Given the description of an element on the screen output the (x, y) to click on. 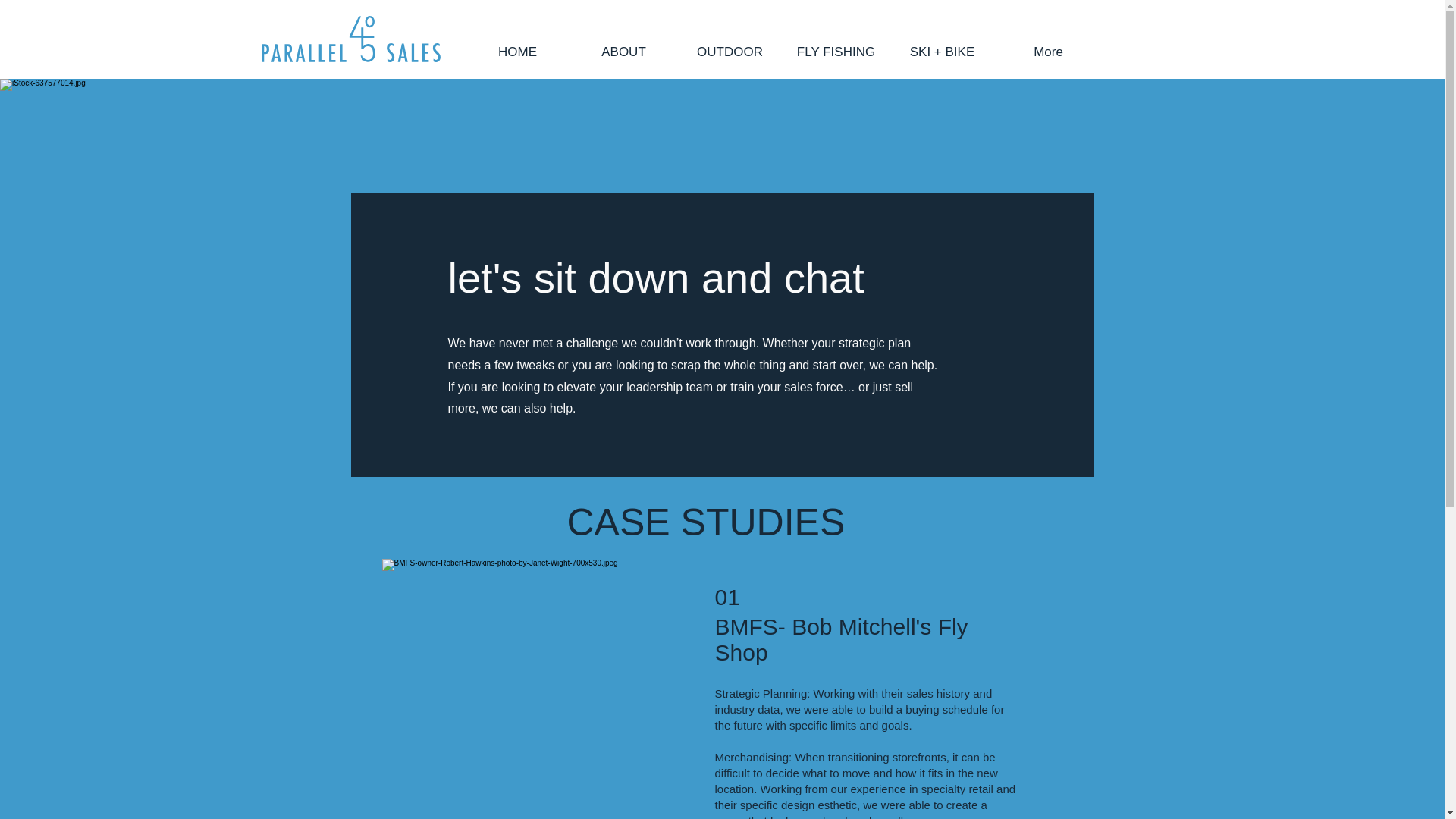
FLY FISHING (835, 52)
OUTDOOR (730, 52)
ABOUT (623, 52)
HOME (517, 52)
